Given the description of an element on the screen output the (x, y) to click on. 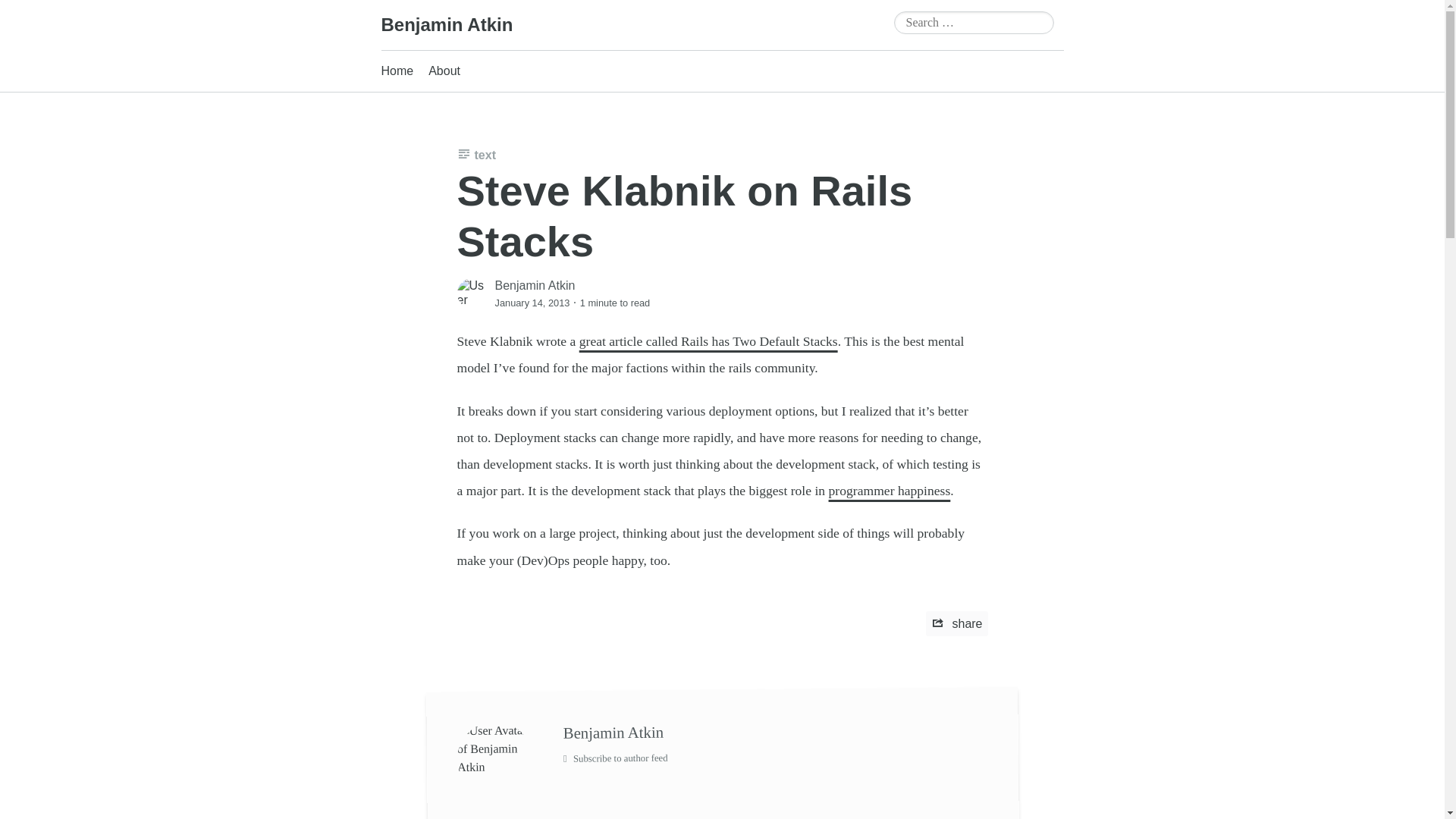
Benjamin Atkin (446, 24)
Home (396, 70)
11:22 AM (532, 301)
Permalink to Steve Klabnik on Rails Stacks (684, 216)
January 14, 2013 (532, 301)
Search (32, 14)
share (956, 623)
View all posts by Benjamin Atkin (535, 285)
About (444, 70)
programmer happiness (889, 490)
Benjamin Atkin (446, 24)
Benjamin Atkin (535, 285)
great article called Rails has Two Default Stacks (708, 340)
text (476, 154)
Benjamin Atkin (774, 728)
